Given the description of an element on the screen output the (x, y) to click on. 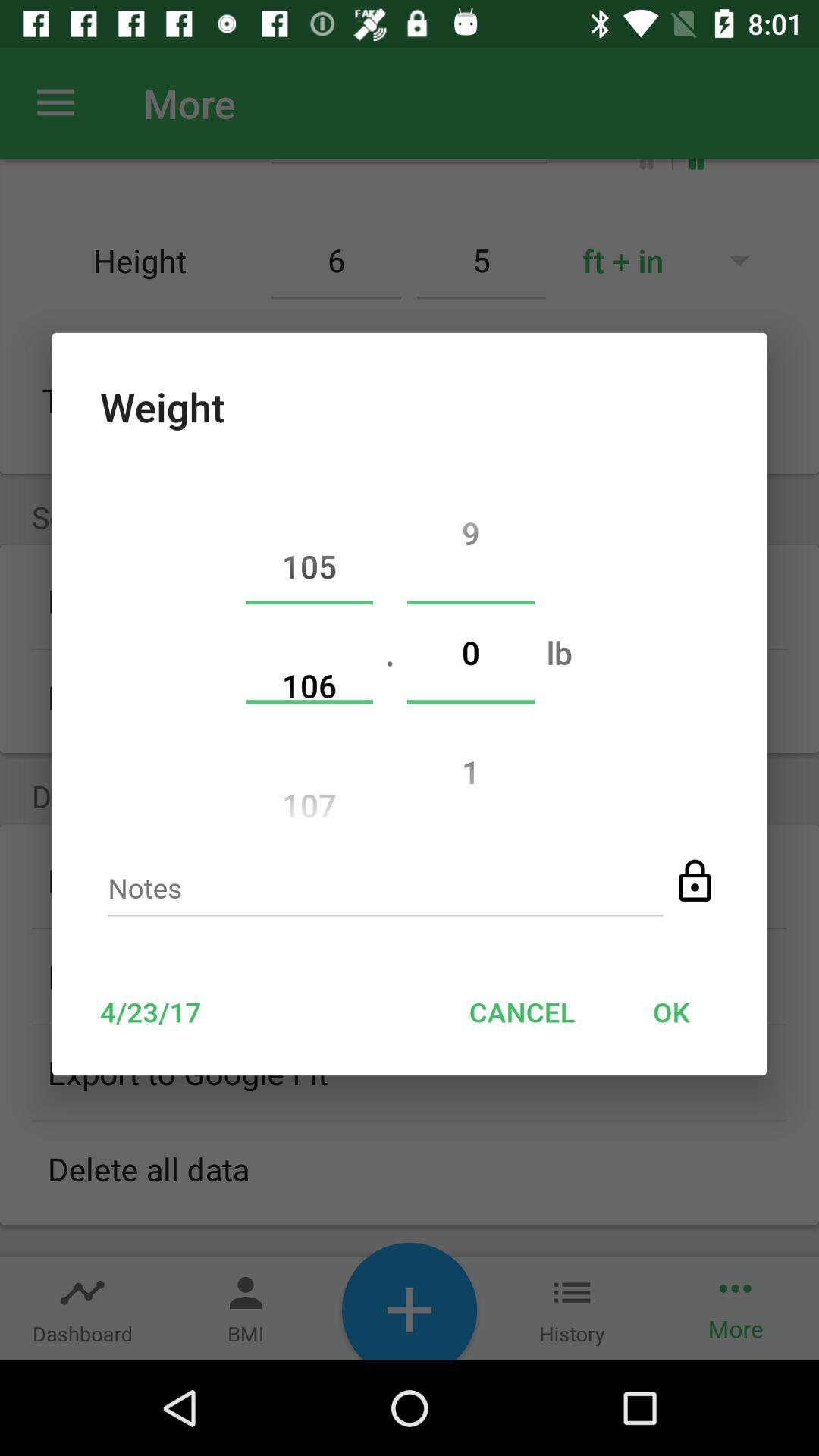
add notes (385, 892)
